Given the description of an element on the screen output the (x, y) to click on. 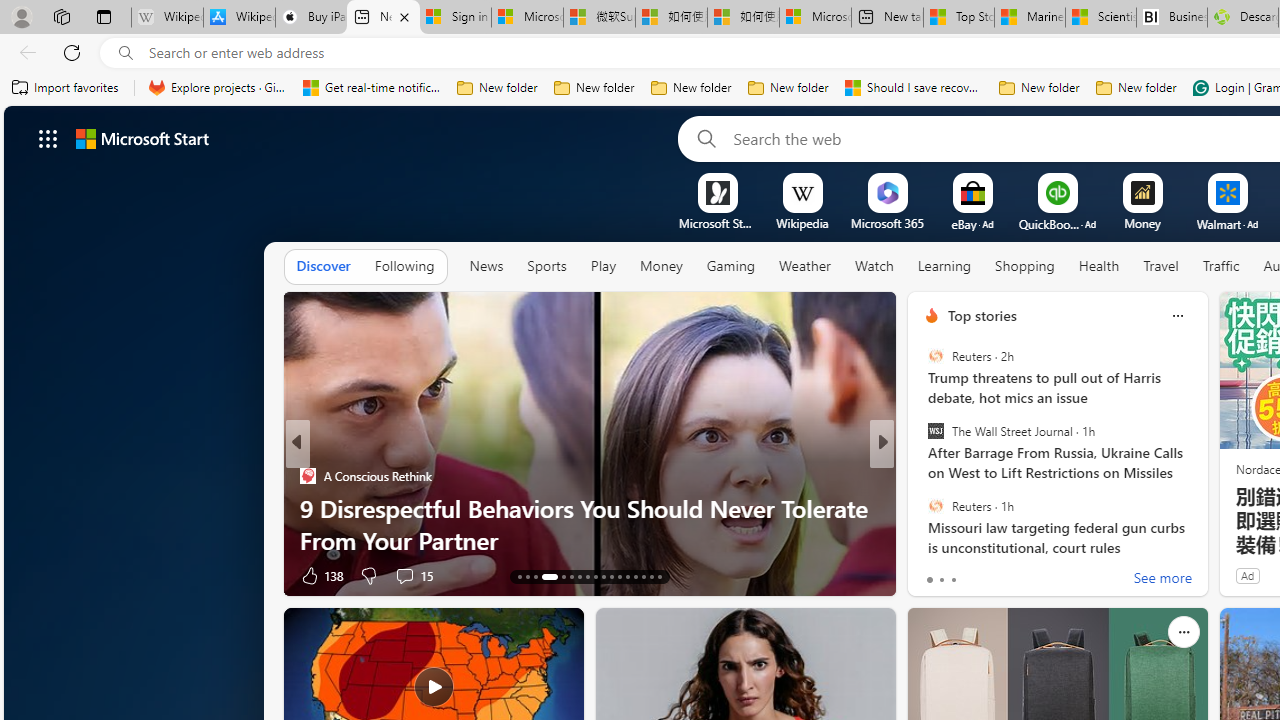
AutomationID: tab-35 (642, 576)
186 Like (936, 574)
3 Like (930, 574)
AutomationID: tab-16 (542, 576)
View comments 35 Comment (1014, 575)
View comments 55 Comment (1019, 575)
View comments 2 Comment (1019, 574)
Tasting Table (923, 475)
